Given the description of an element on the screen output the (x, y) to click on. 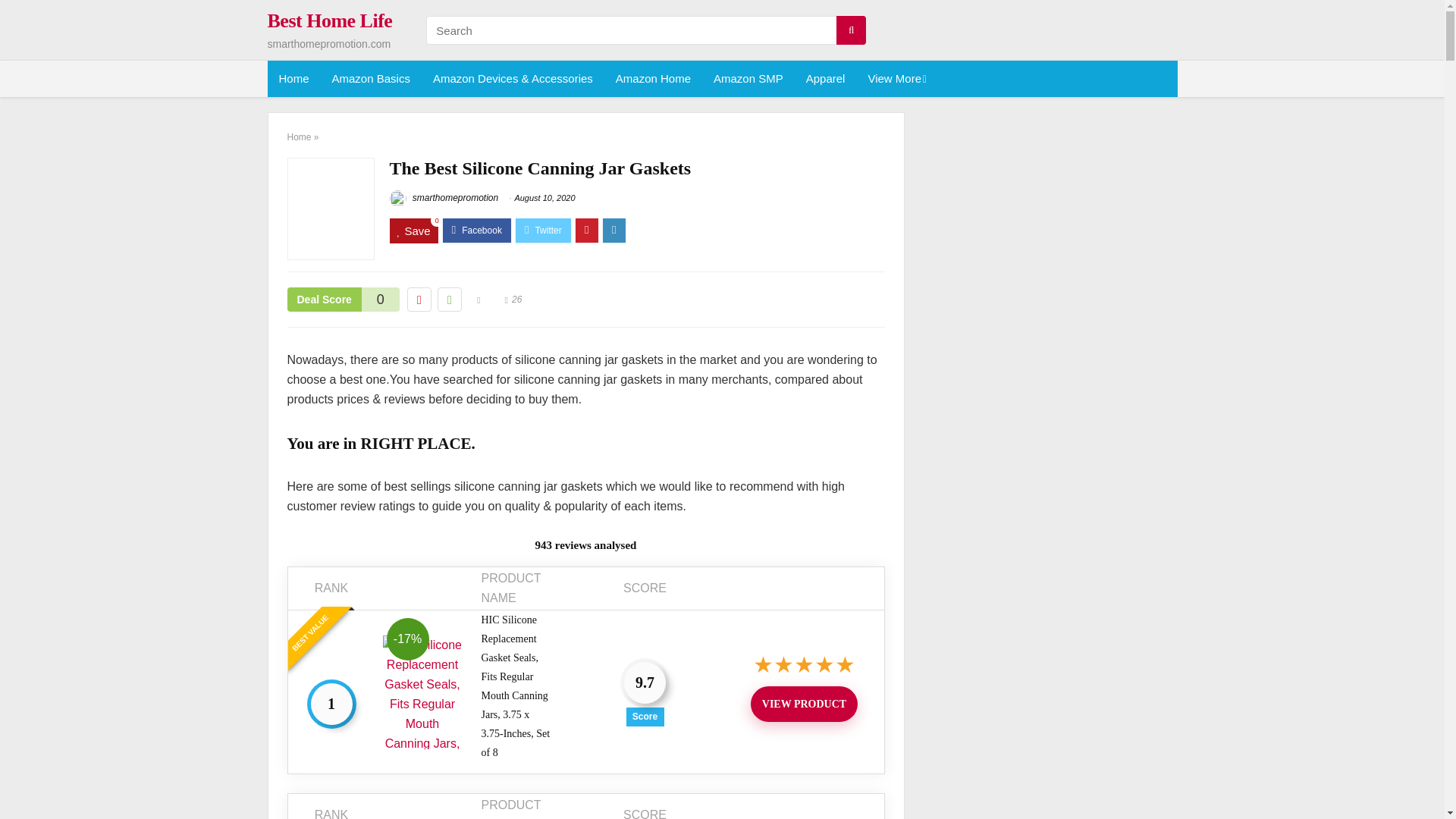
Apparel (825, 78)
Amazon Basics (371, 78)
View More (895, 78)
Amazon SMP (747, 78)
Home (293, 78)
Vote down (418, 299)
Amazon Home (652, 78)
